Given the description of an element on the screen output the (x, y) to click on. 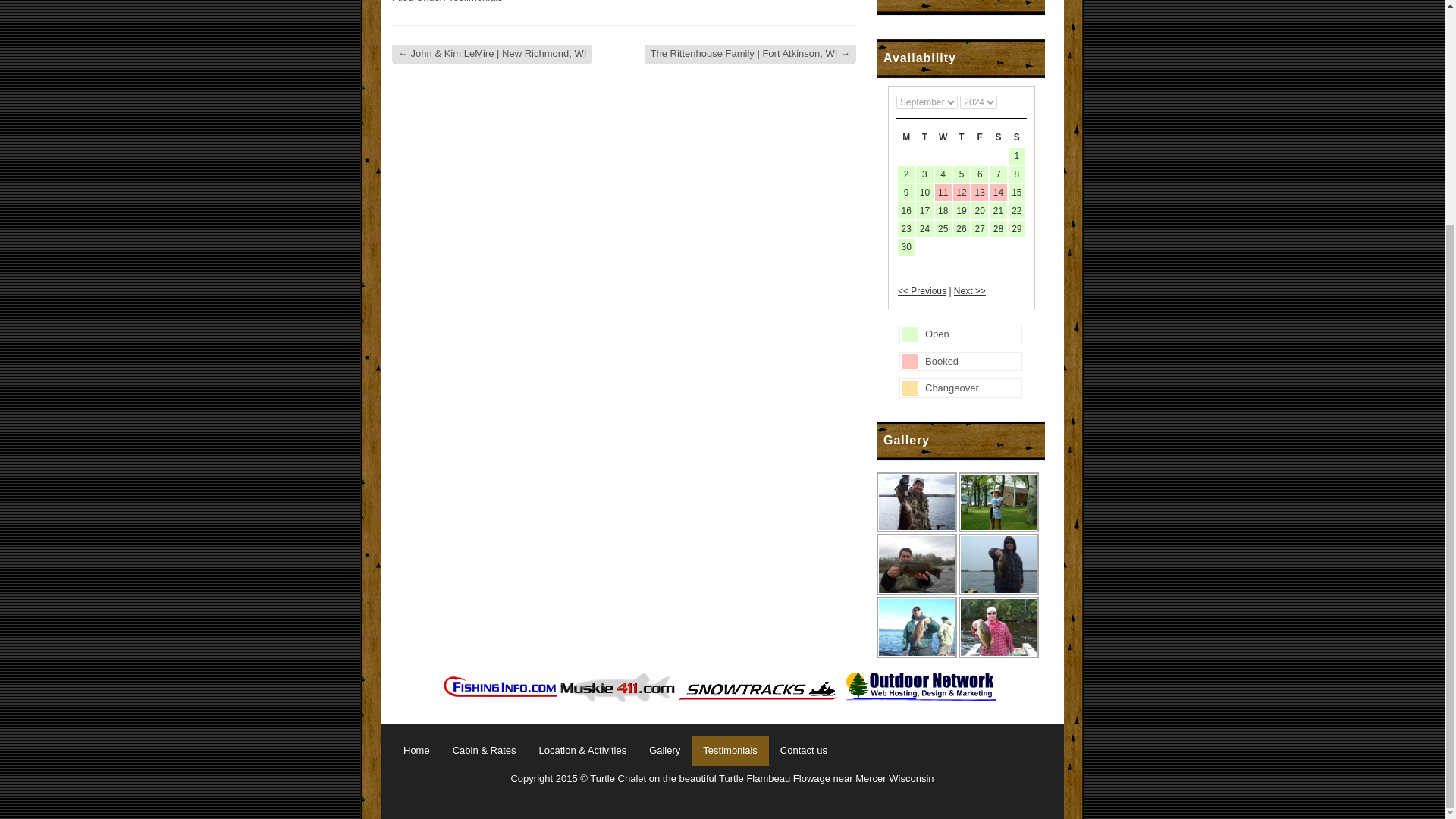
Testimonials (729, 750)
Turtle Chalet-Nice fall smallie (998, 564)
Testimonials (475, 1)
Turtle Flowage-NIce Spring Smallie (998, 627)
Home (416, 750)
Contact us (803, 750)
Turtle Chalet-Nice Walleye (998, 502)
Turtle Chalet-Spring smallie (916, 564)
Gallery (664, 750)
Turtle Chalet-Nice late spring smallie (916, 627)
